Given the description of an element on the screen output the (x, y) to click on. 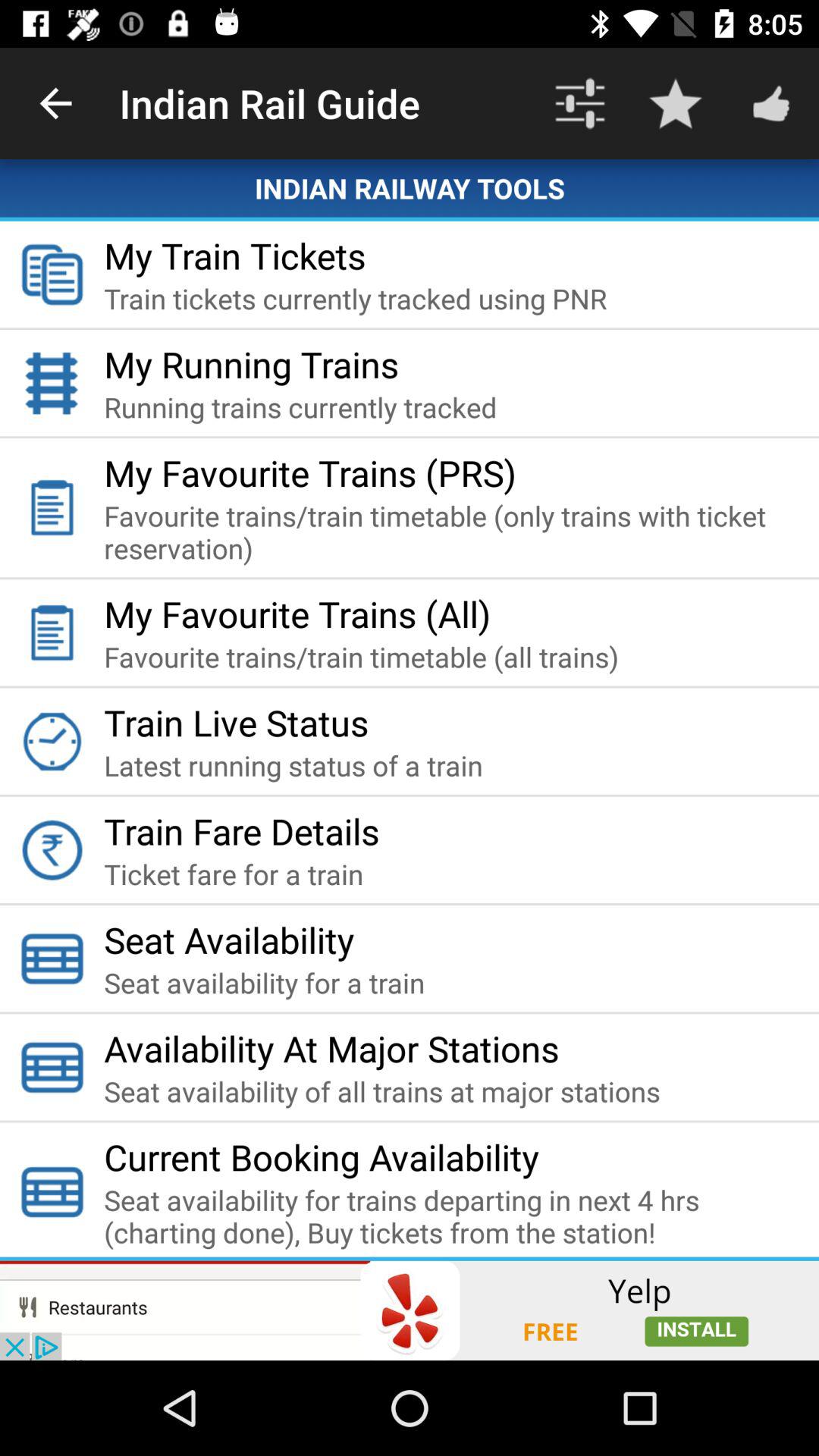
advertisement area (409, 1310)
